Given the description of an element on the screen output the (x, y) to click on. 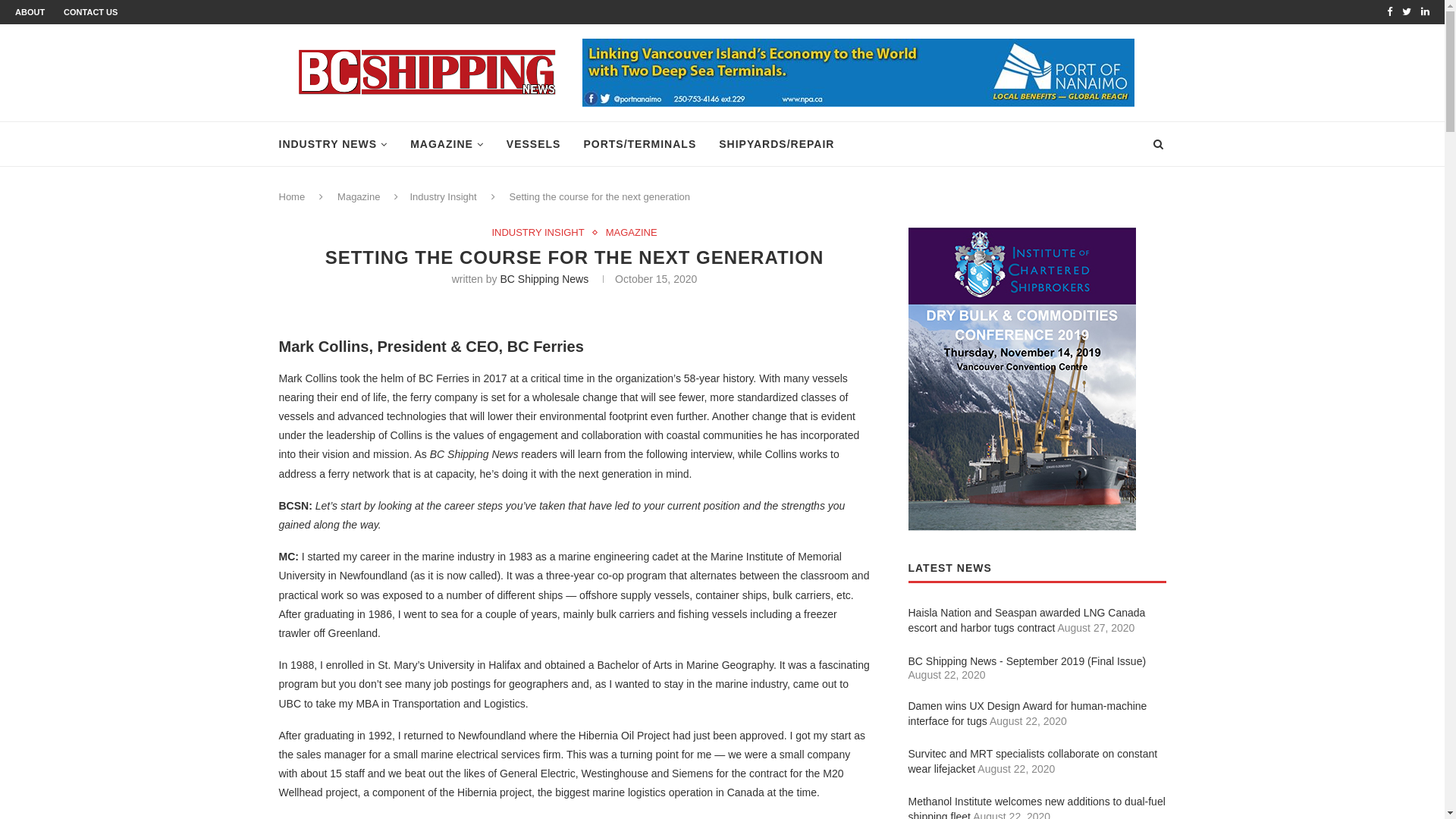
Mark Collins, President & CEO, BC Ferries Element type: hover (573, 305)
Magazine Element type: text (358, 196)
MAGAZINE Element type: text (446, 144)
CONTACT US Element type: text (90, 11)
Home Element type: text (292, 196)
VESSELS Element type: text (533, 144)
PORTS/TERMINALS Element type: text (639, 144)
BC Shipping News - September 2019 (Final Issue) Element type: text (1027, 661)
INDUSTRY NEWS Element type: text (333, 144)
ABOUT Element type: text (29, 11)
INDUSTRY INSIGHT Element type: text (541, 232)
Industry Insight Element type: text (442, 196)
MAGAZINE Element type: text (631, 232)
BC Shipping News Element type: text (543, 279)
SHIPYARDS/REPAIR Element type: text (776, 144)
